Given the description of an element on the screen output the (x, y) to click on. 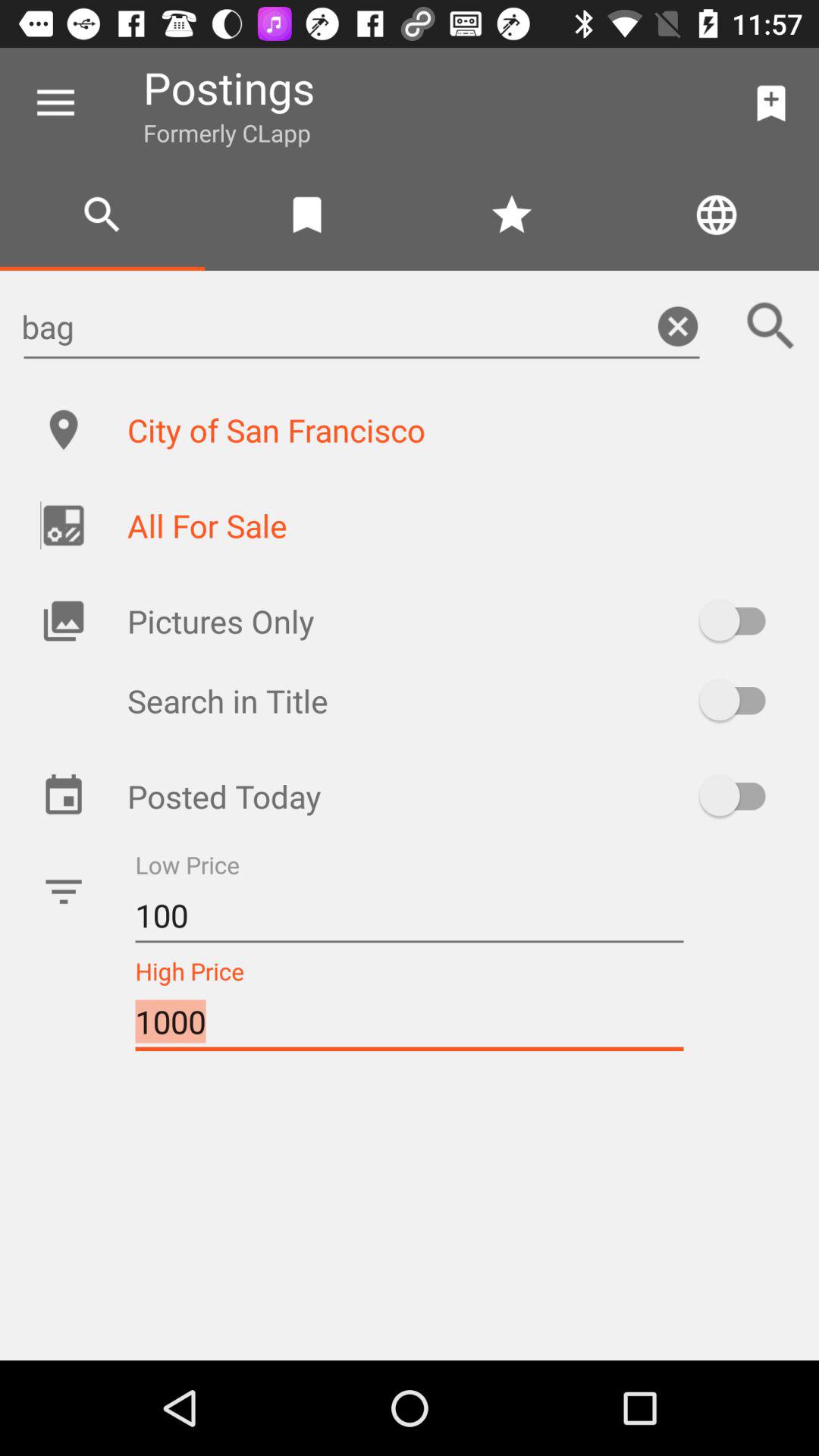
swipe to the bag (361, 326)
